Given the description of an element on the screen output the (x, y) to click on. 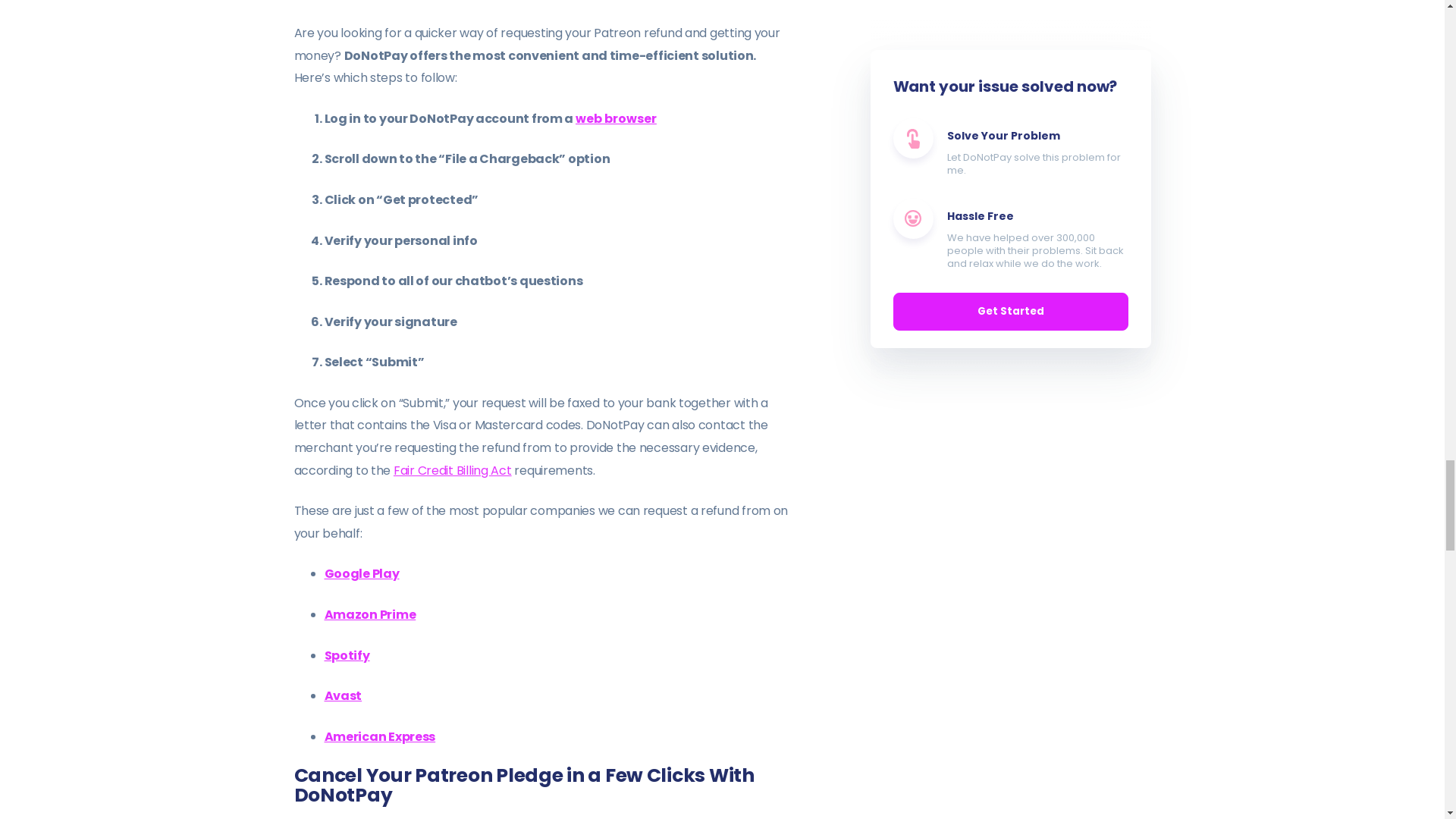
Spotify (346, 655)
Amazon Prime (370, 614)
Fair Credit Billing Act (452, 470)
Google Play (361, 573)
web browser (615, 117)
